Given the description of an element on the screen output the (x, y) to click on. 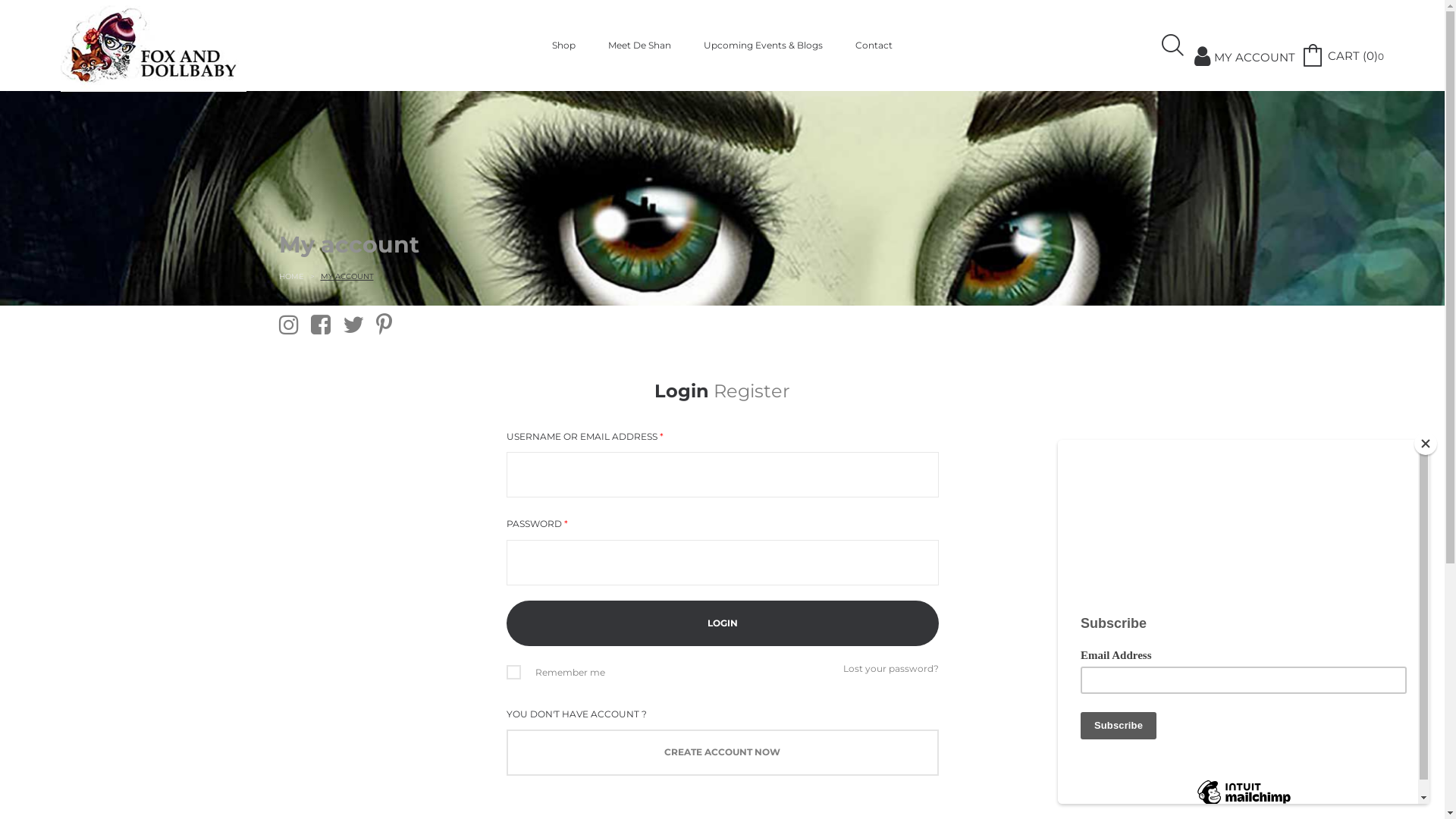
Instagram Element type: hover (288, 324)
Login Element type: text (722, 623)
Facebook Element type: hover (320, 324)
Login Element type: text (681, 390)
Twitter Element type: hover (353, 324)
MY ACCOUNT Element type: text (1244, 45)
HOME Element type: text (291, 276)
Upcoming Events & Blogs Element type: text (763, 45)
Contact Element type: text (873, 45)
Meet De Shan Element type: text (639, 45)
Register Element type: text (751, 390)
CREATE ACCOUNT NOW Element type: text (722, 752)
Pinterest Element type: hover (384, 324)
Lost your password? Element type: text (890, 668)
CART (0)0 Element type: text (1342, 45)
Shop Element type: text (563, 45)
